Given the description of an element on the screen output the (x, y) to click on. 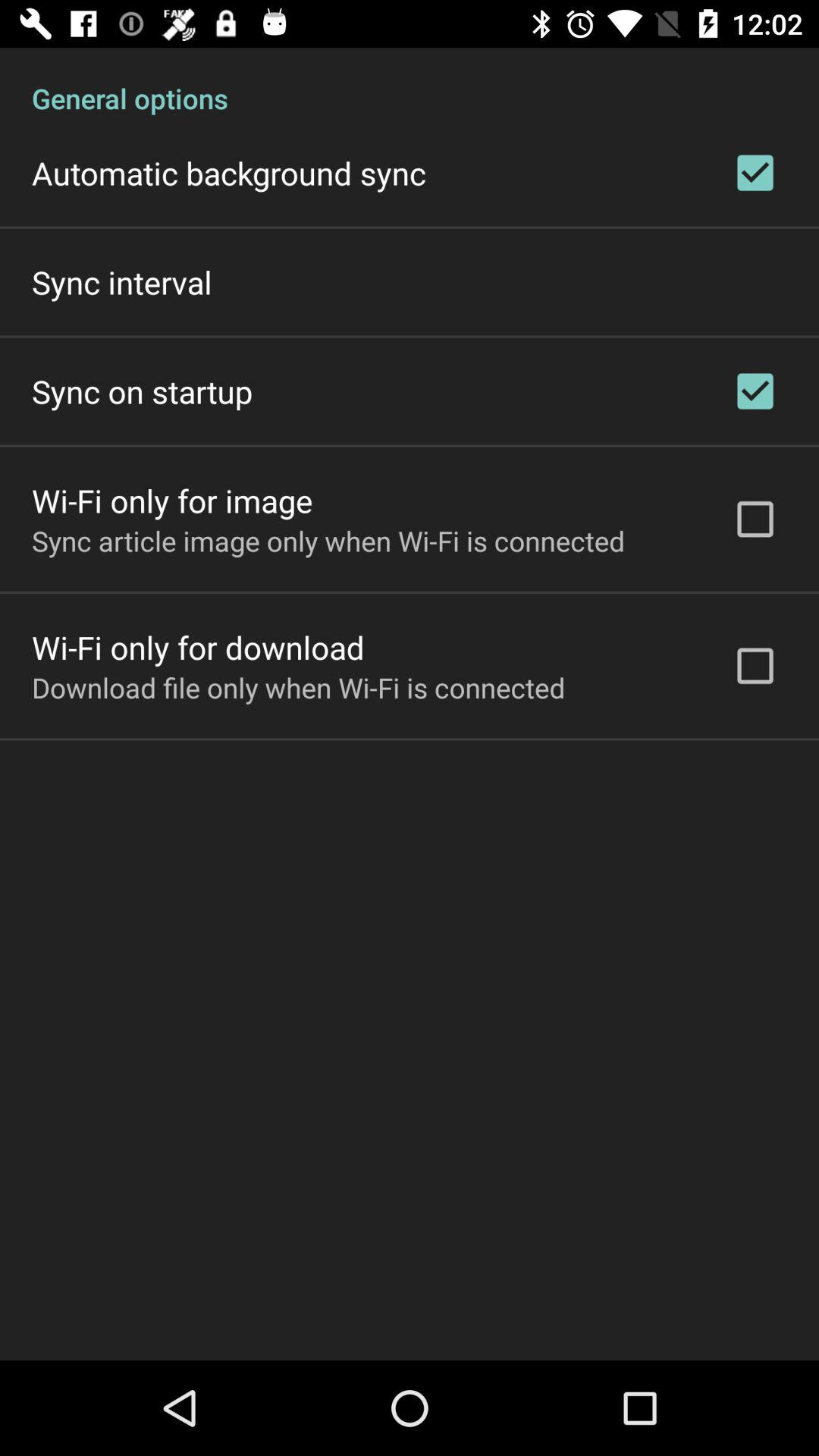
select sync on startup icon (141, 390)
